Given the description of an element on the screen output the (x, y) to click on. 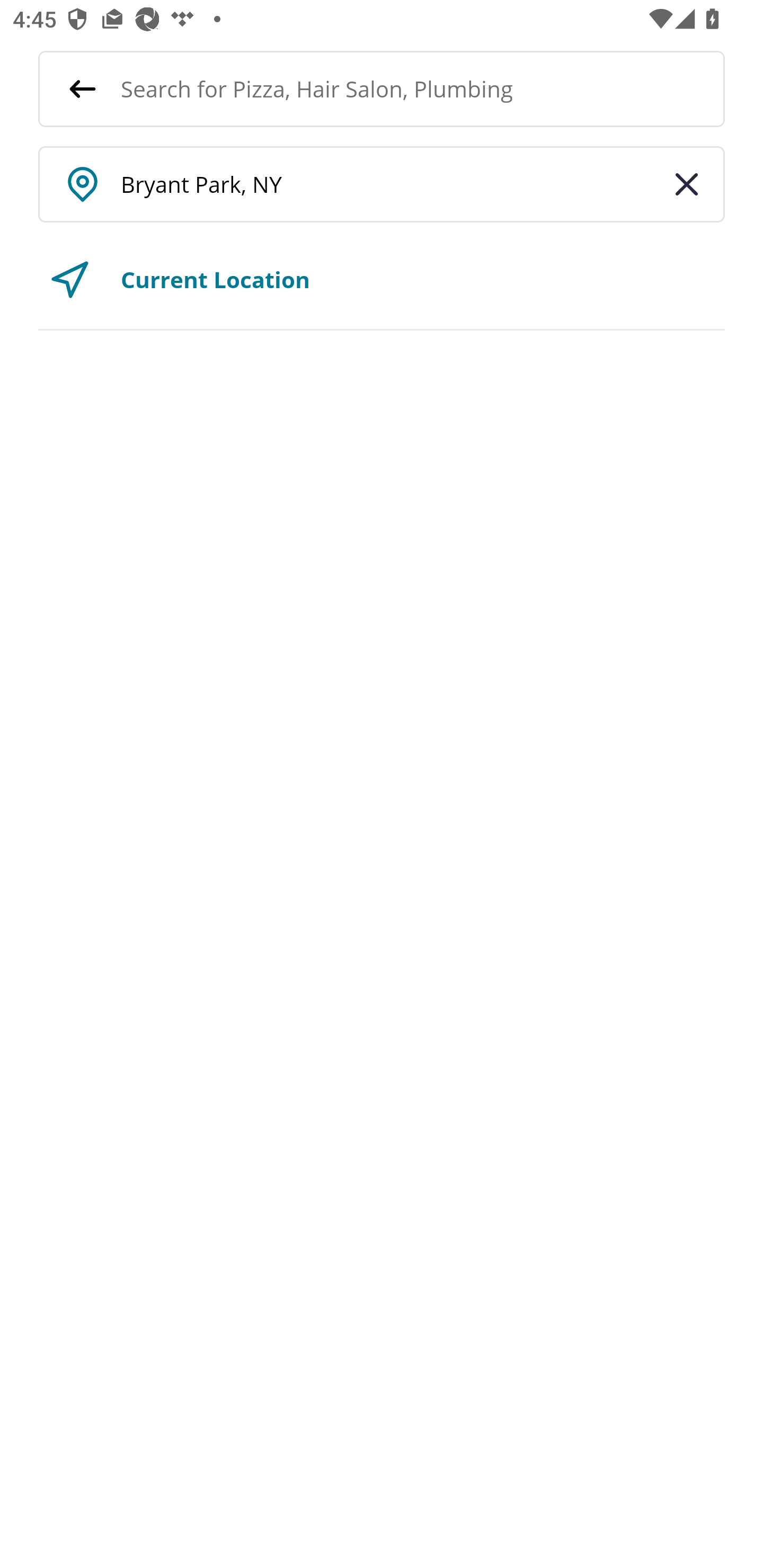
Search for Pizza, Hair Salon, Plumbing (422, 88)
